Given the description of an element on the screen output the (x, y) to click on. 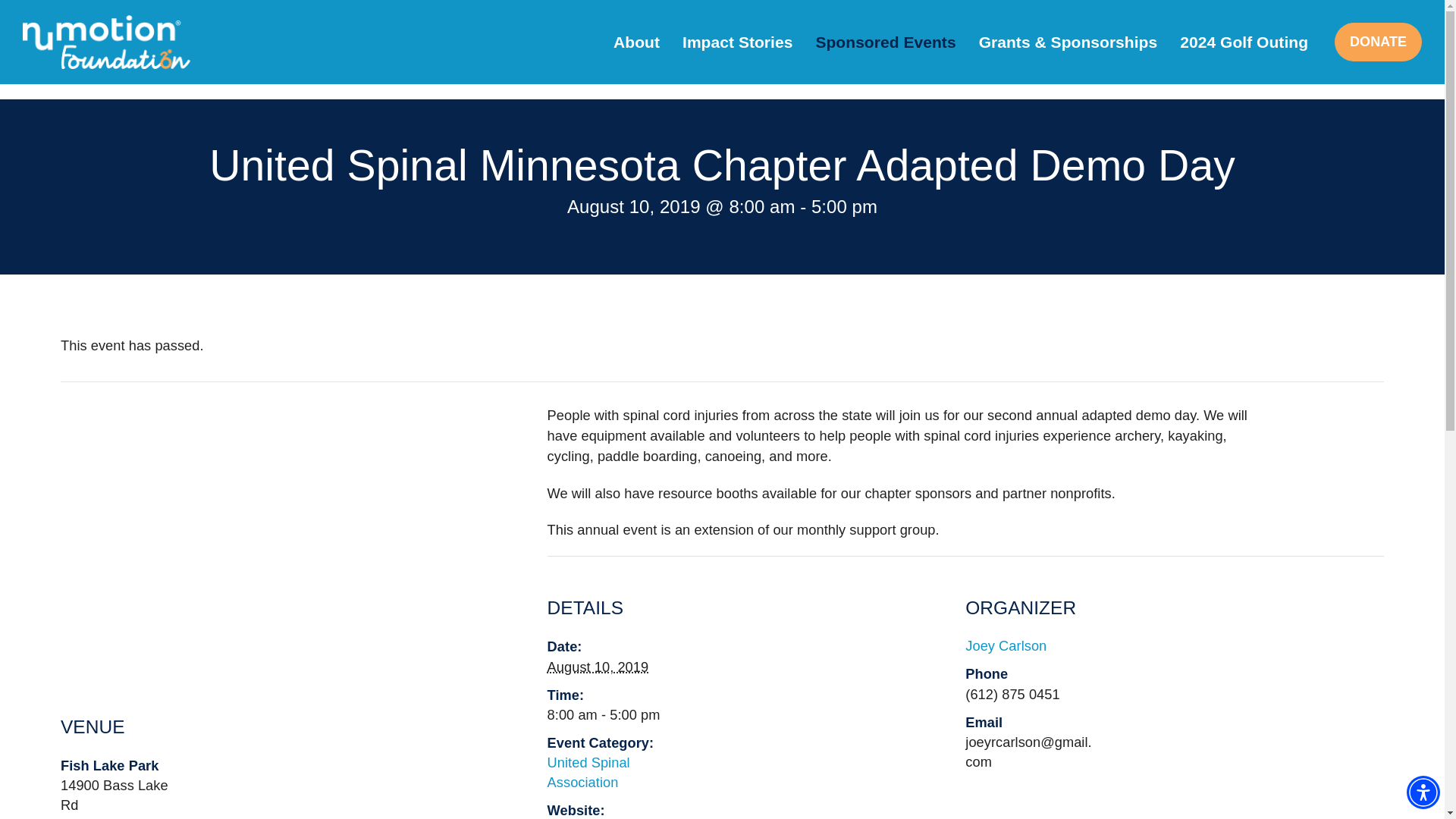
Joey Carlson (1005, 645)
2019-08-10 (611, 714)
2019-08-10 (598, 666)
Sponsored Events (884, 42)
Accessibility Menu (1422, 792)
Google maps iframe displaying the address to Fish Lake Park (281, 537)
DONATE (1378, 41)
Joey Carlson (1005, 645)
Impact Stories (737, 42)
United Spinal Association (588, 772)
2024 Golf Outing (1244, 42)
Minnesota (158, 817)
Logo White Orange O (106, 41)
About (636, 42)
